Given the description of an element on the screen output the (x, y) to click on. 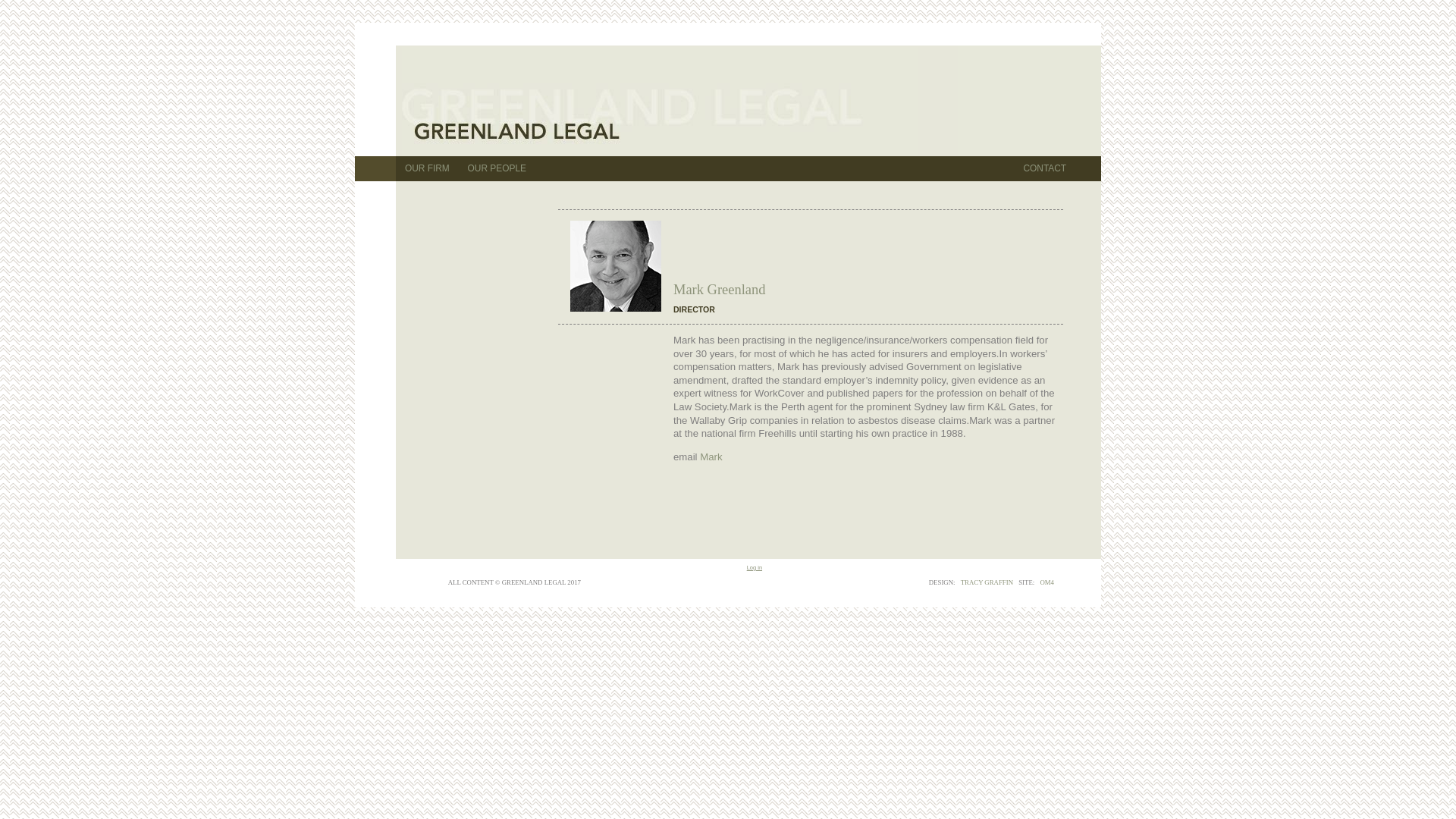
Mark Element type: text (710, 456)
CONTACT Element type: text (1044, 168)
OUR FIRM Element type: text (426, 168)
TRACY GRAFFIN Element type: text (986, 582)
OM4 Element type: text (1046, 582)
OUR PEOPLE Element type: text (496, 168)
Log in Element type: text (754, 567)
Greenland Legal Home Element type: hover (659, 102)
Mark Greenland Element type: hover (615, 265)
